Given the description of an element on the screen output the (x, y) to click on. 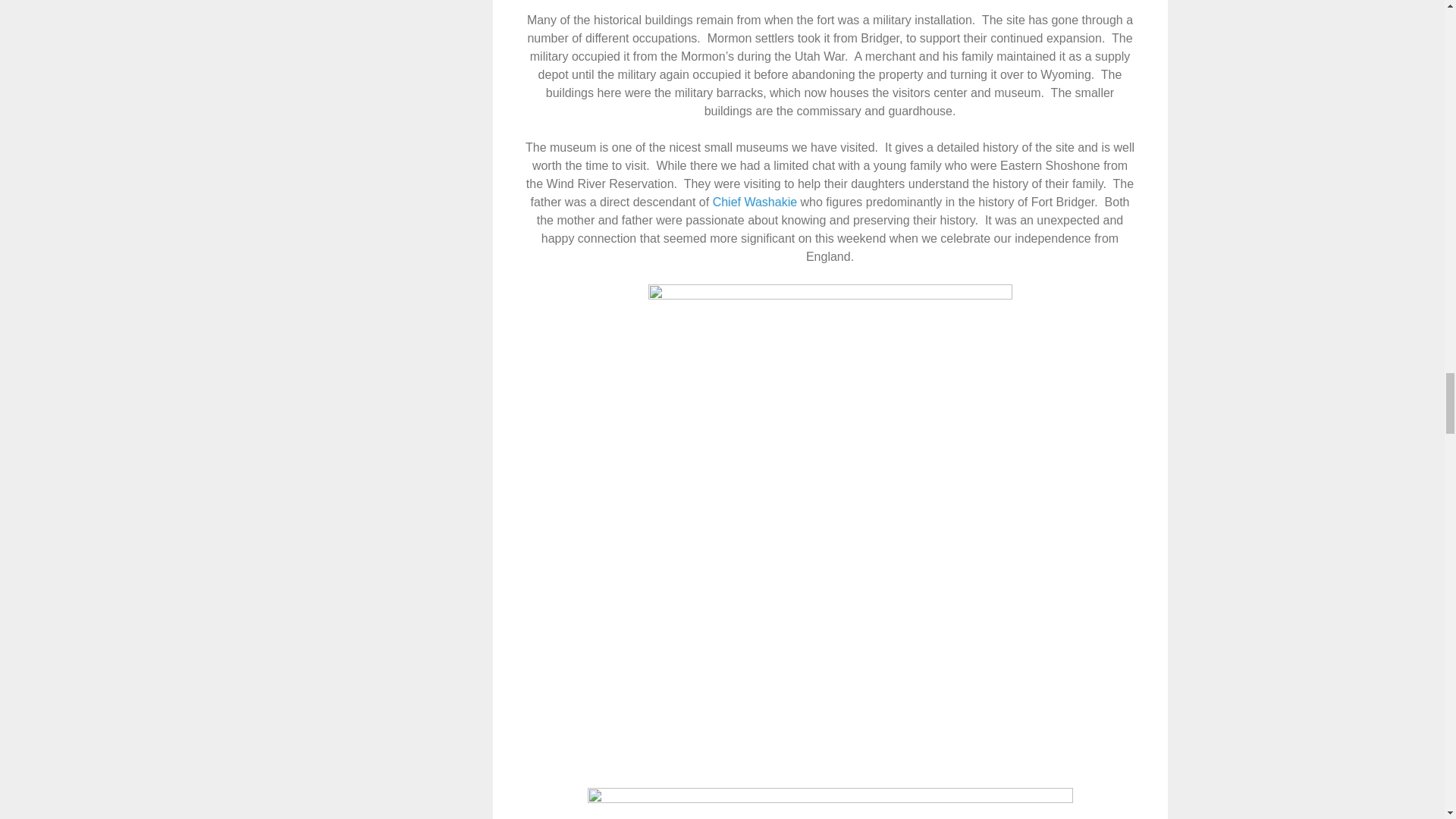
Chief Washakie (754, 201)
